Given the description of an element on the screen output the (x, y) to click on. 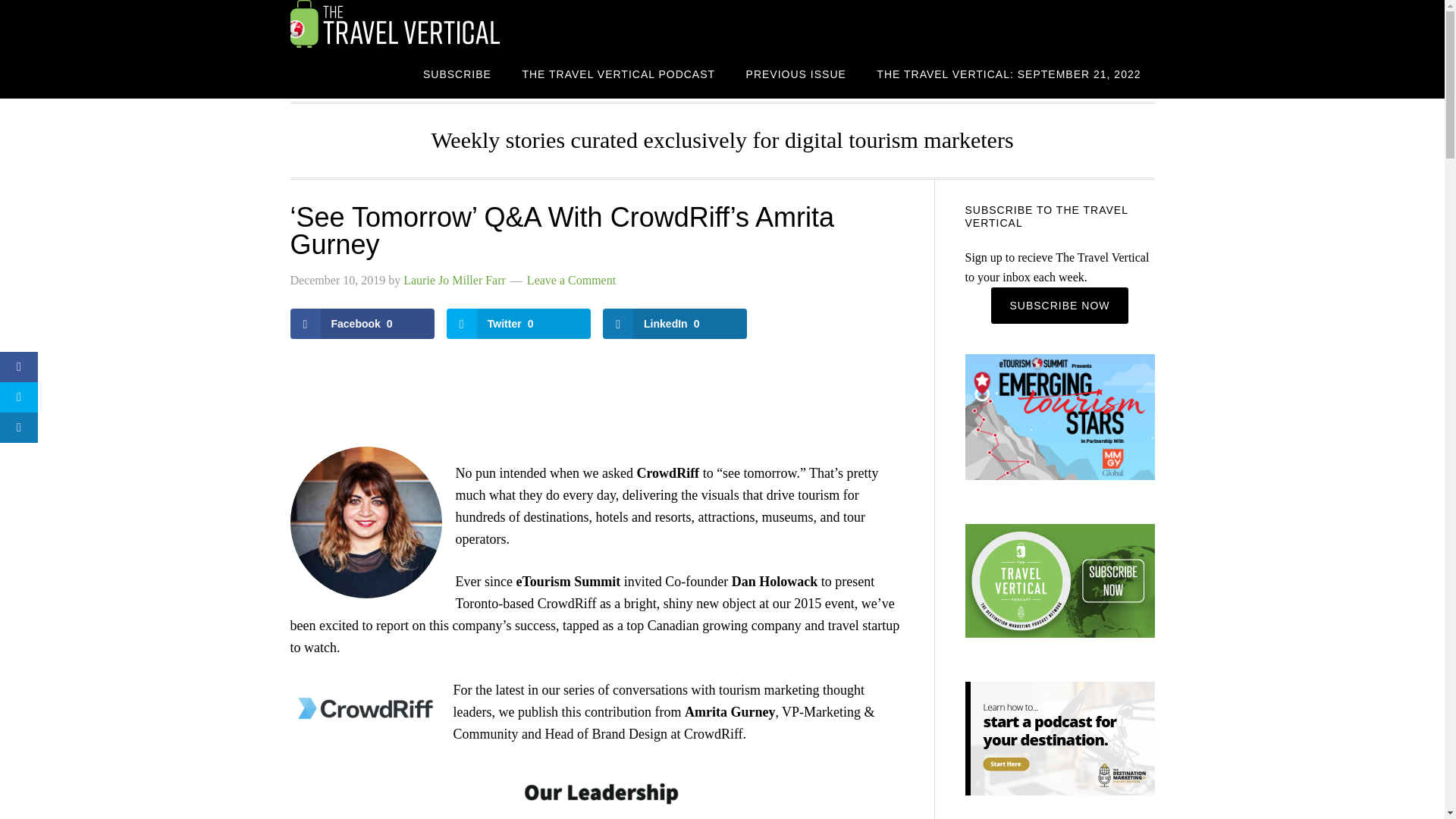
Subscribe Now (1058, 305)
Laurie Jo Miller Farr (454, 279)
LinkedIn 0 (674, 323)
Facebook 0 (361, 323)
Twitter 0 (518, 323)
PREVIOUS ISSUE (796, 73)
Subscribe Now (1058, 305)
Leave a Comment (571, 279)
SUBSCRIBE (457, 73)
THE TRAVEL VERTICAL (410, 24)
THE TRAVEL VERTICAL PODCAST (618, 73)
THE TRAVEL VERTICAL: SEPTEMBER 21, 2022 (1008, 73)
